Given the description of an element on the screen output the (x, y) to click on. 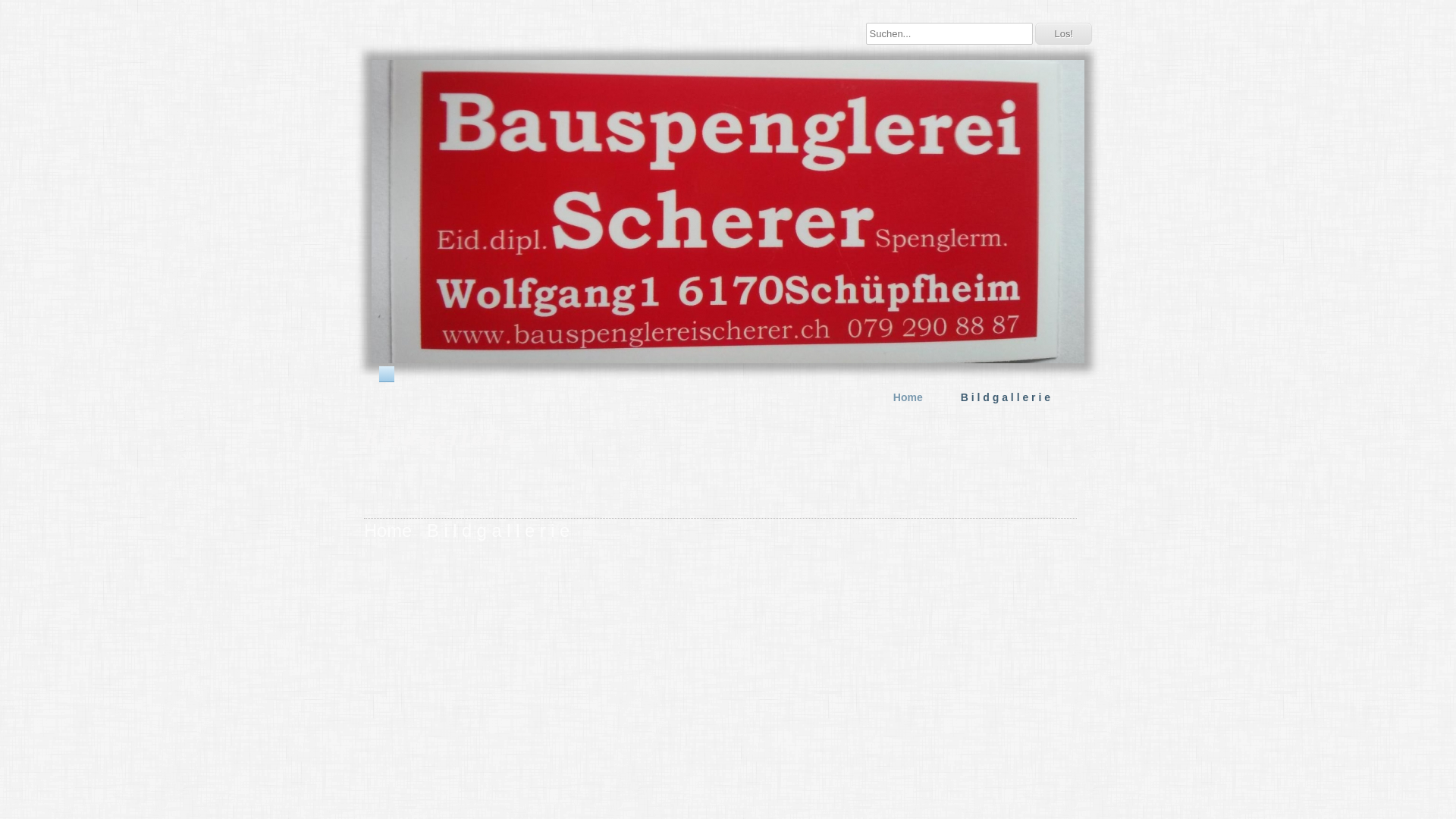
Home Element type: text (903, 396)
B i l d g a l l e r i e Element type: text (1001, 396)
B i l d g a l l e r i e Element type: text (497, 530)
Home Element type: text (387, 530)
Los! Element type: text (1063, 33)
